Given the description of an element on the screen output the (x, y) to click on. 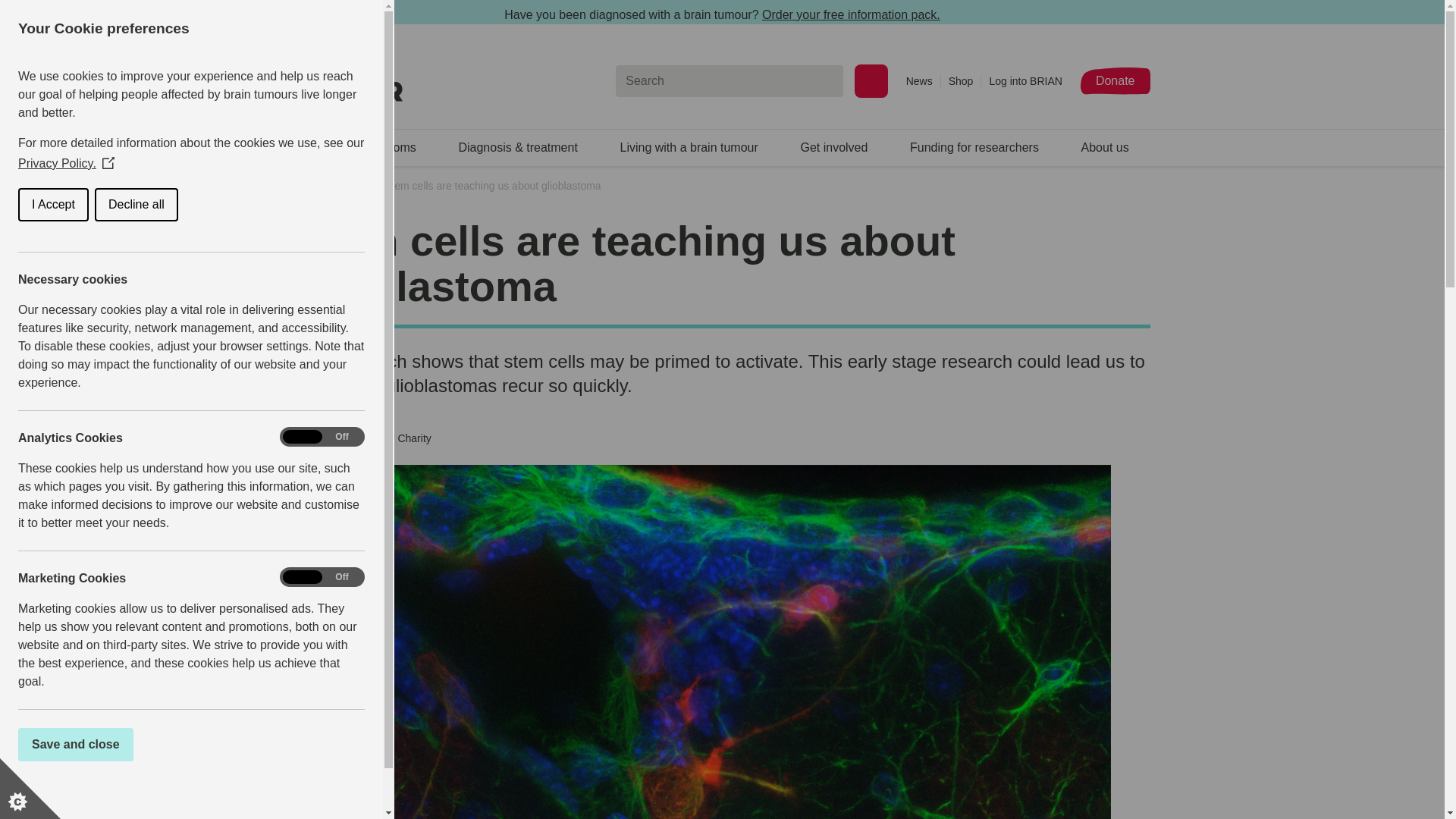
Decline all (18, 204)
Save and close (18, 744)
Log into BRIAN (1025, 80)
Order your free information pack. (850, 14)
Donate (1115, 81)
News (922, 80)
Shop (965, 80)
